Given the description of an element on the screen output the (x, y) to click on. 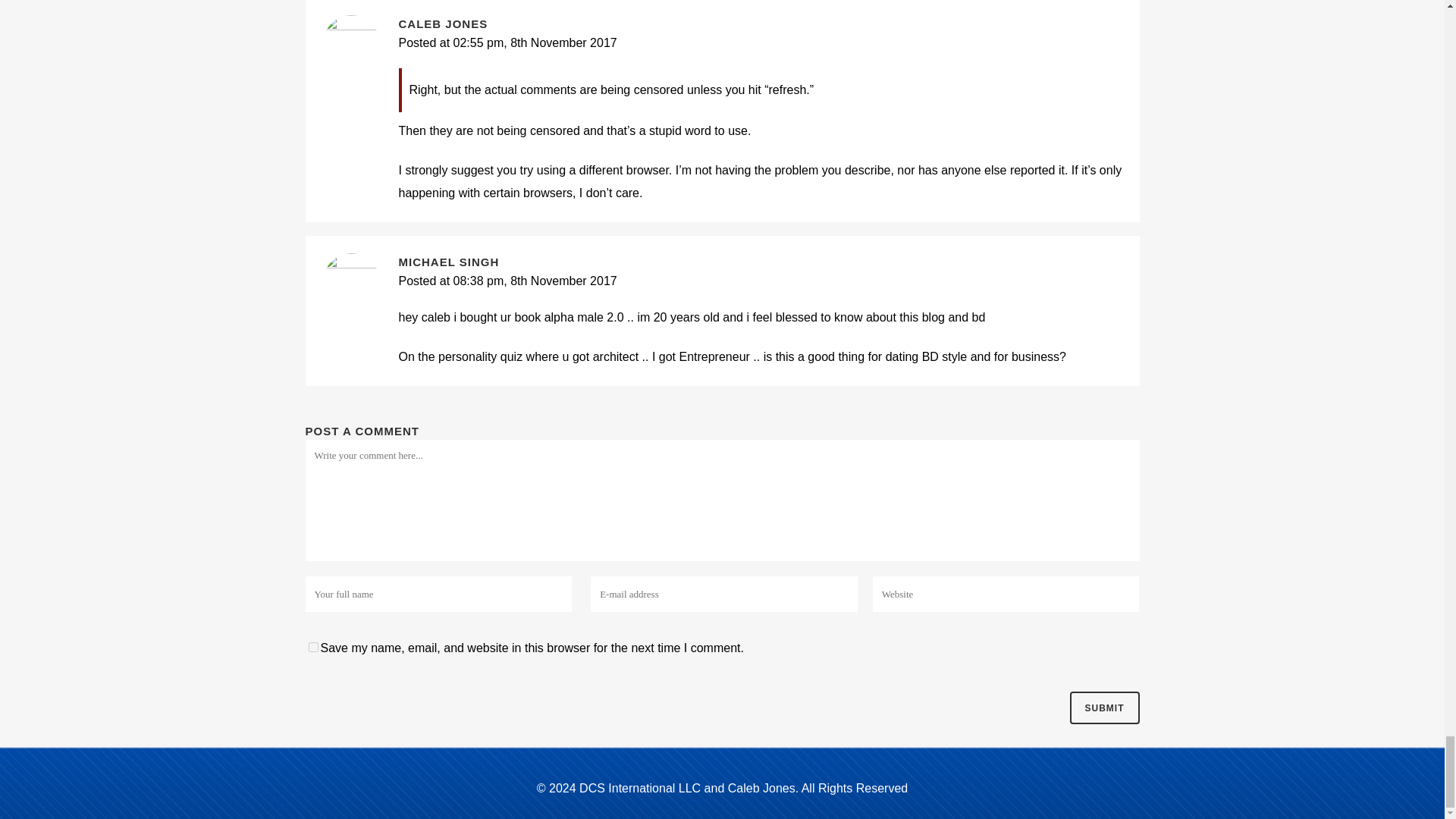
Submit (1103, 707)
yes (312, 646)
Please wait until Google reCAPTCHA is loaded. (1103, 707)
Submit (1103, 707)
